Given the description of an element on the screen output the (x, y) to click on. 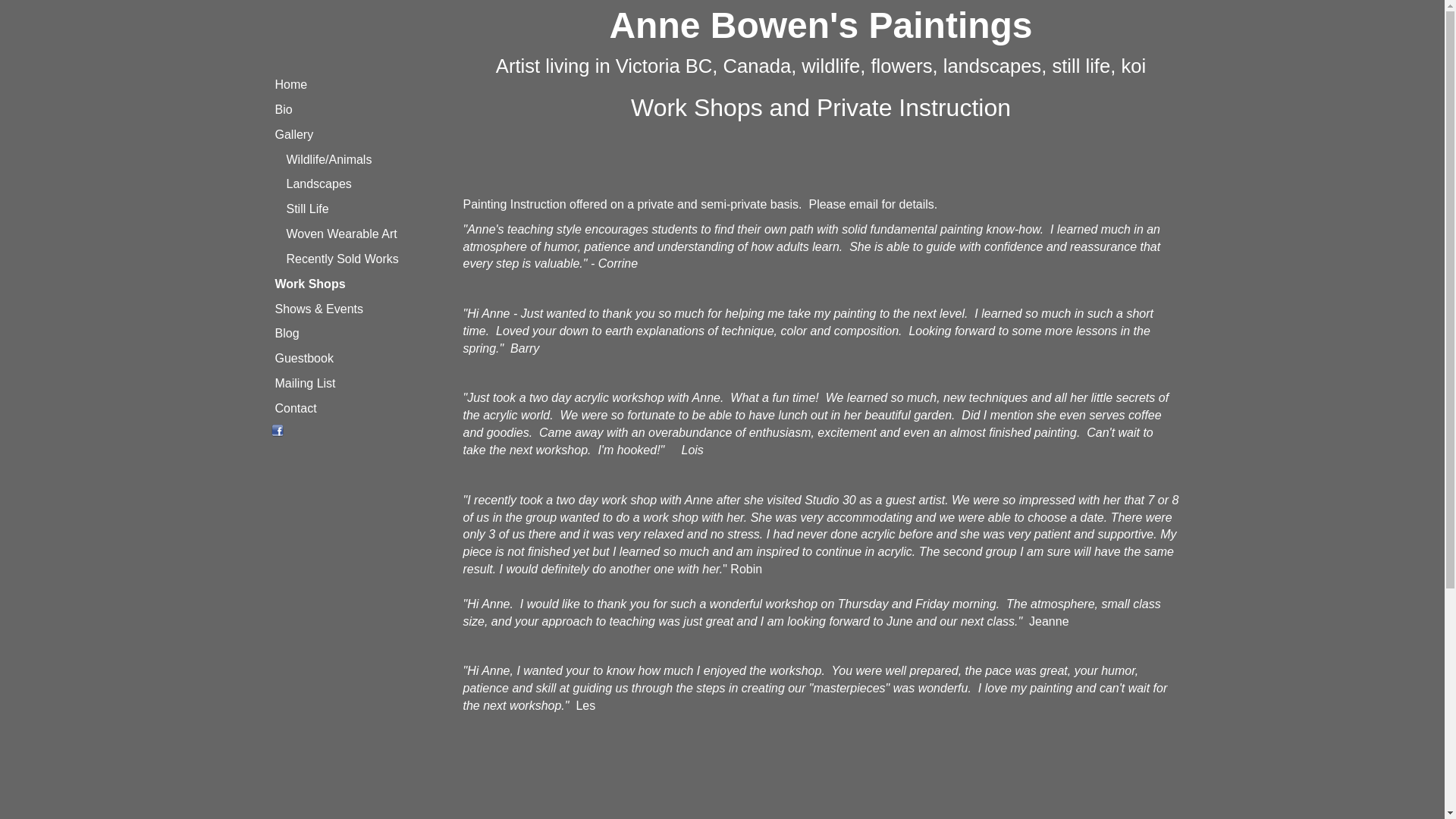
Contact Element type: text (364, 408)
Recently Sold Works Element type: text (369, 259)
Still Life Element type: text (369, 209)
Shows & Events Element type: text (364, 309)
Anne Bowen's Paintings Element type: text (820, 25)
Gallery Element type: text (364, 134)
Mailing List Element type: text (364, 383)
Home Element type: text (364, 84)
Woven Wearable Art Element type: text (369, 234)
Wildlife/Animals Element type: text (369, 159)
Work Shops Element type: text (364, 284)
Guestbook Element type: text (364, 358)
Blog Element type: text (364, 333)
Landscapes Element type: text (369, 184)
Bio Element type: text (364, 109)
